Given the description of an element on the screen output the (x, y) to click on. 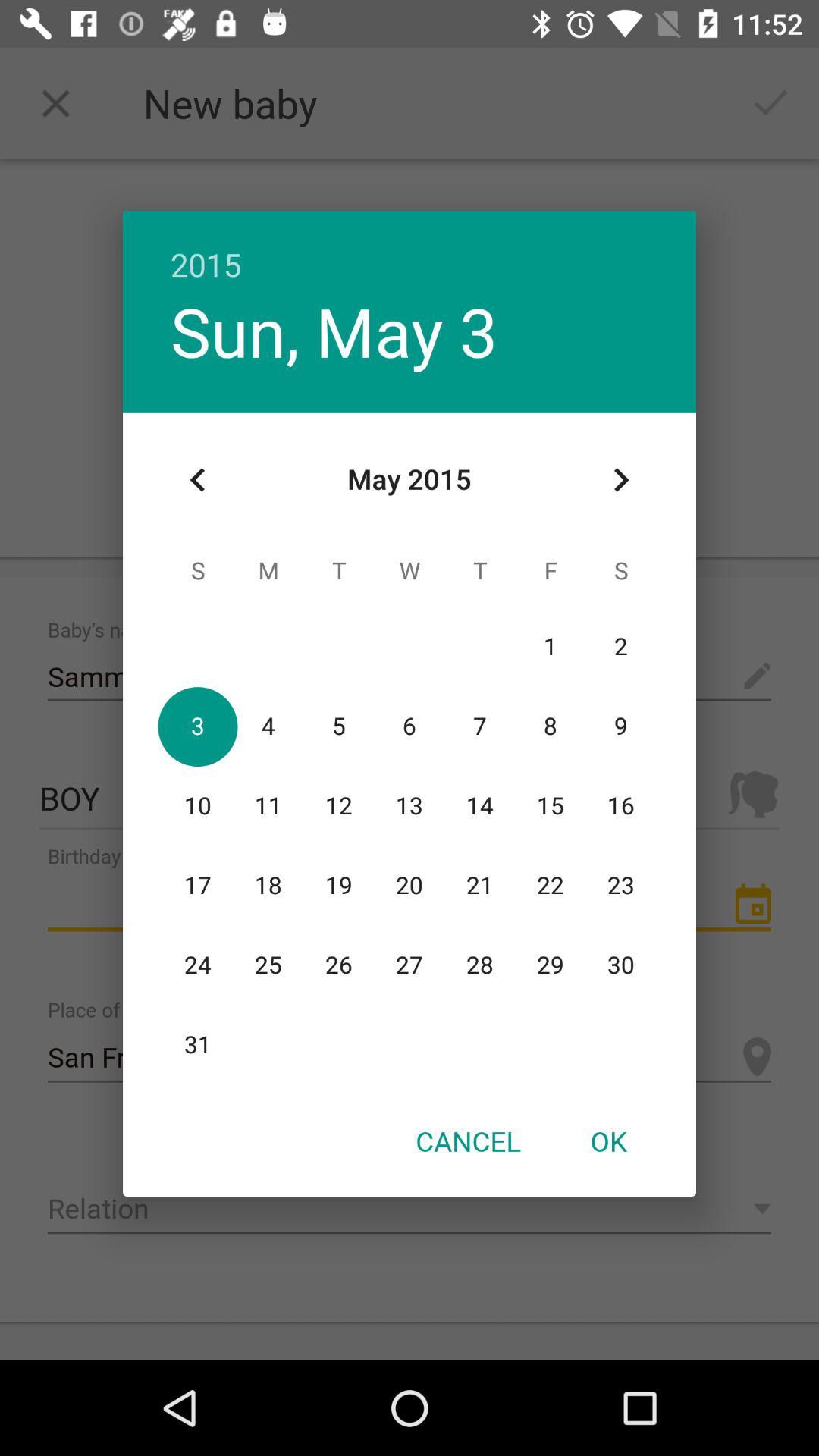
turn on icon next to the cancel (608, 1140)
